Given the description of an element on the screen output the (x, y) to click on. 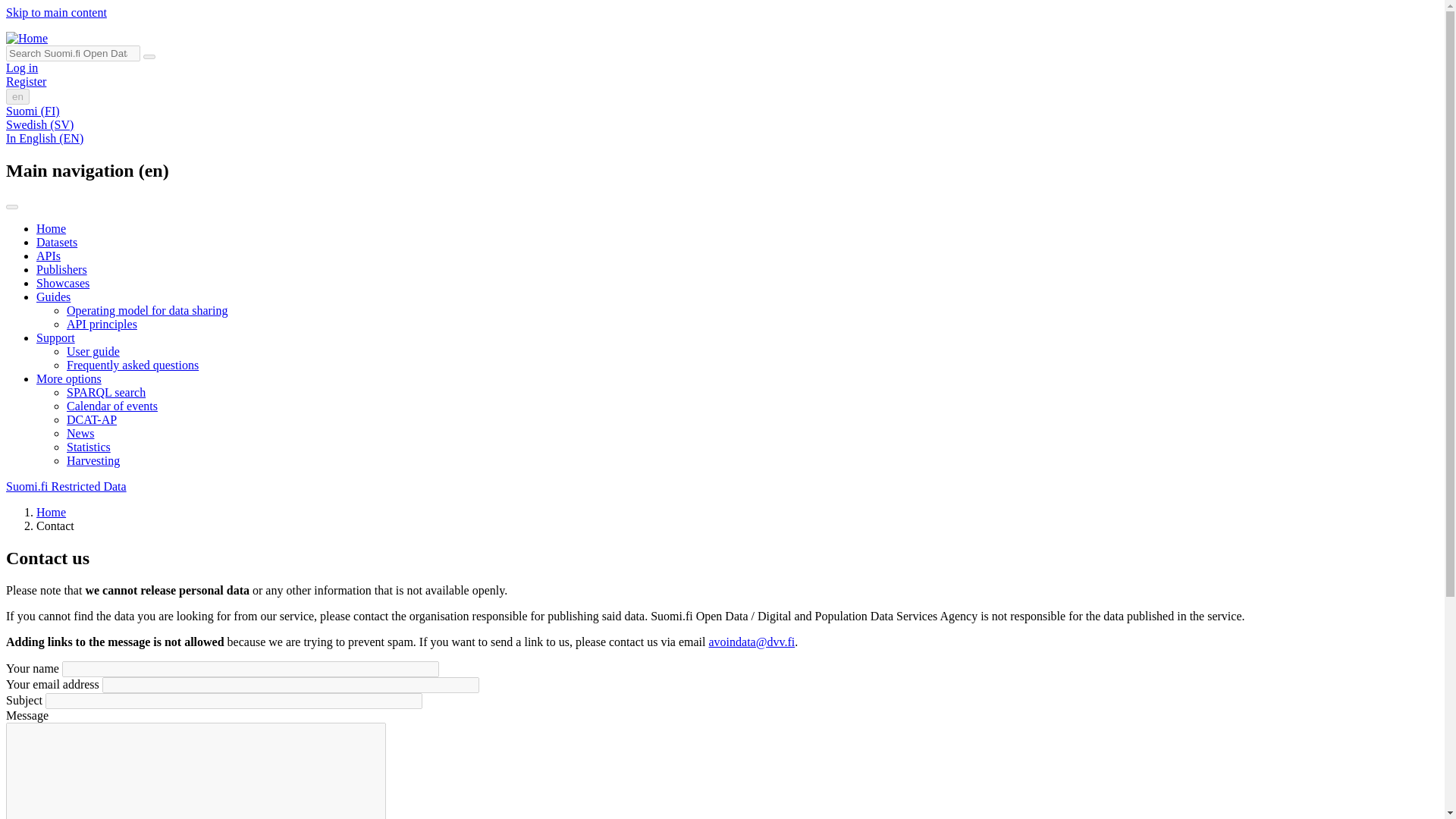
APIs (48, 255)
Home (50, 512)
API principles (101, 323)
Publishers (61, 269)
Showcases (62, 282)
Support (55, 337)
More options (68, 378)
Datasets (56, 241)
DCAT-AP (91, 419)
DCAT-AP (91, 419)
Suomi.fi Restricted Data (65, 486)
Log in (21, 67)
Calendar of events (111, 405)
APIs (48, 255)
Calendar of events (111, 405)
